Given the description of an element on the screen output the (x, y) to click on. 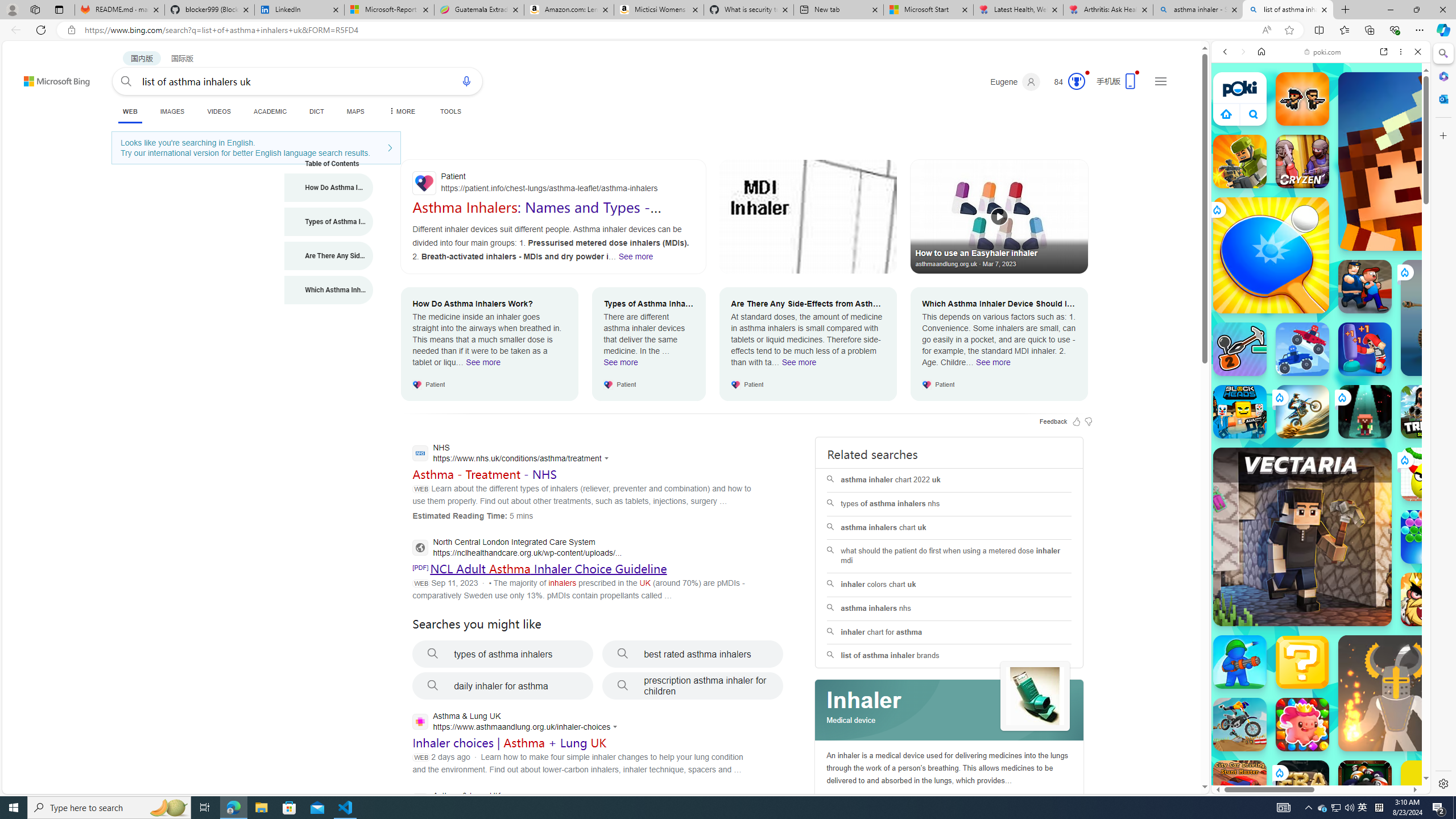
Quivershot Quivershot (1364, 411)
Crazy Cars (1419, 574)
WEB (129, 111)
Two Player Games (1320, 323)
NCL Adult Asthma Inhaler Choice Guideline (547, 568)
This site scope (1259, 102)
See more images of Inhaler (1035, 697)
best rated asthma inhalers (692, 653)
Cryzen.io (1302, 161)
Escape From School Escape From School (1364, 286)
TOOLS (450, 111)
Show More Car Games (1390, 268)
